Given the description of an element on the screen output the (x, y) to click on. 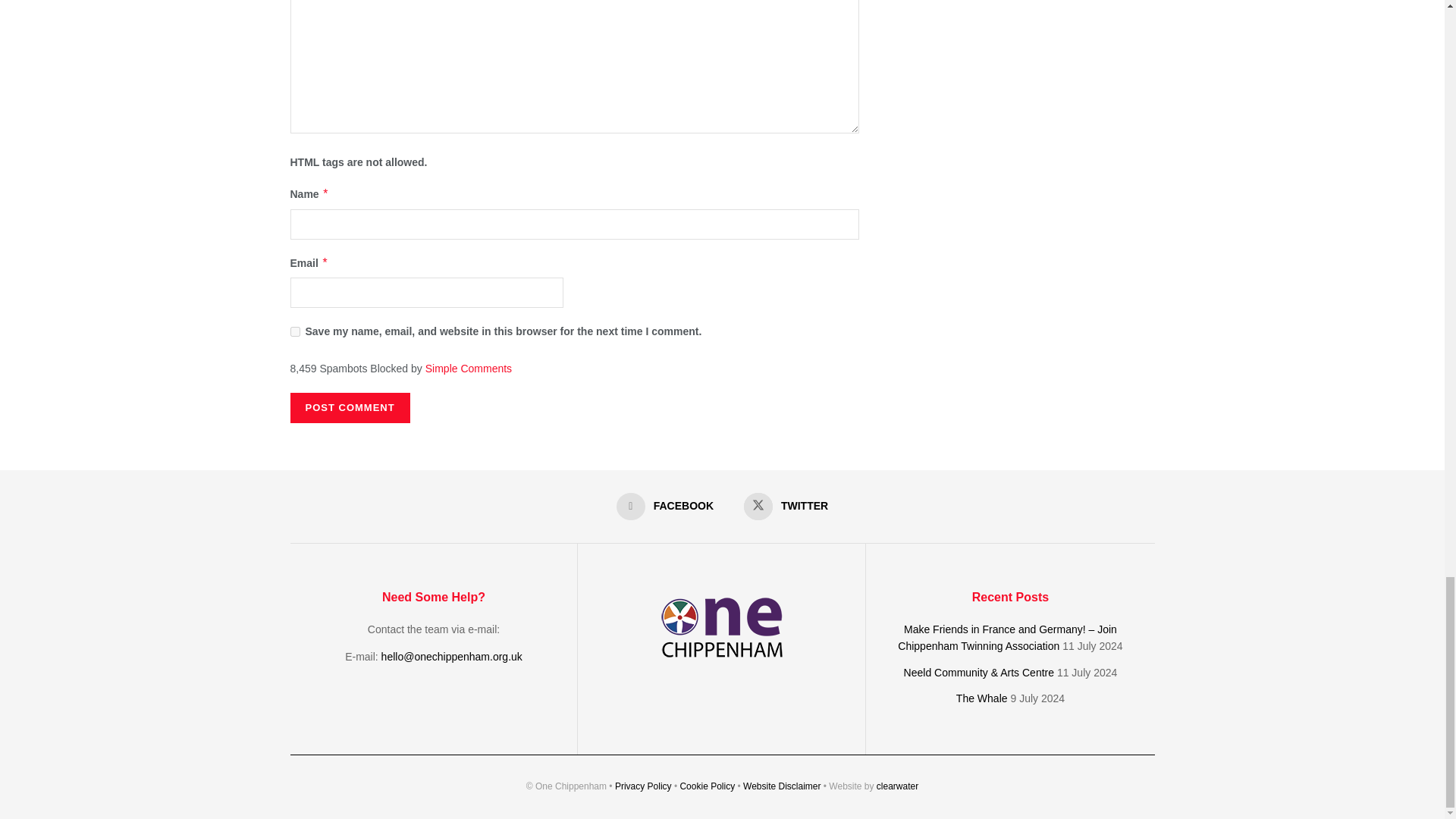
Simple Comments (468, 368)
yes (294, 331)
Post Comment (349, 408)
